Given the description of an element on the screen output the (x, y) to click on. 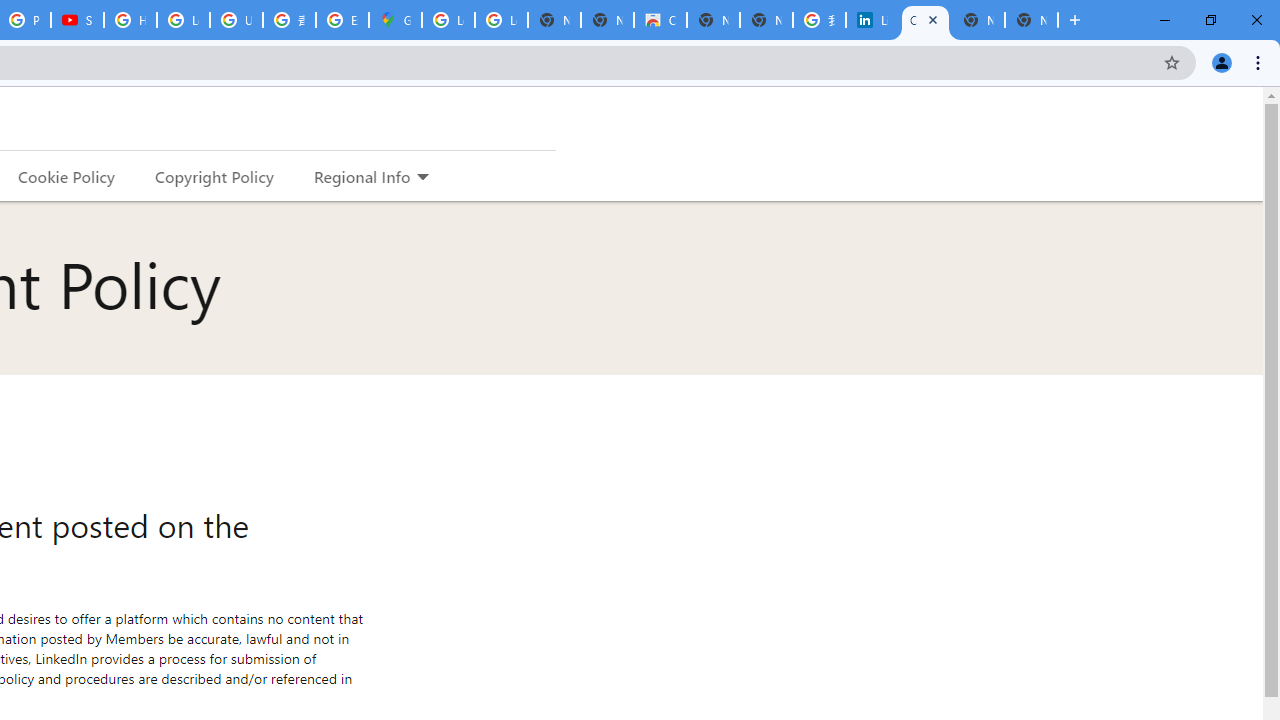
LinkedIn Login, Sign in | LinkedIn (872, 20)
Google Maps (395, 20)
Cookie Policy (66, 176)
Subscriptions - YouTube (77, 20)
Chrome Web Store (660, 20)
Explore new street-level details - Google Maps Help (342, 20)
Copyright Policy (925, 20)
Expand to show more links for Regional Info (422, 178)
